Given the description of an element on the screen output the (x, y) to click on. 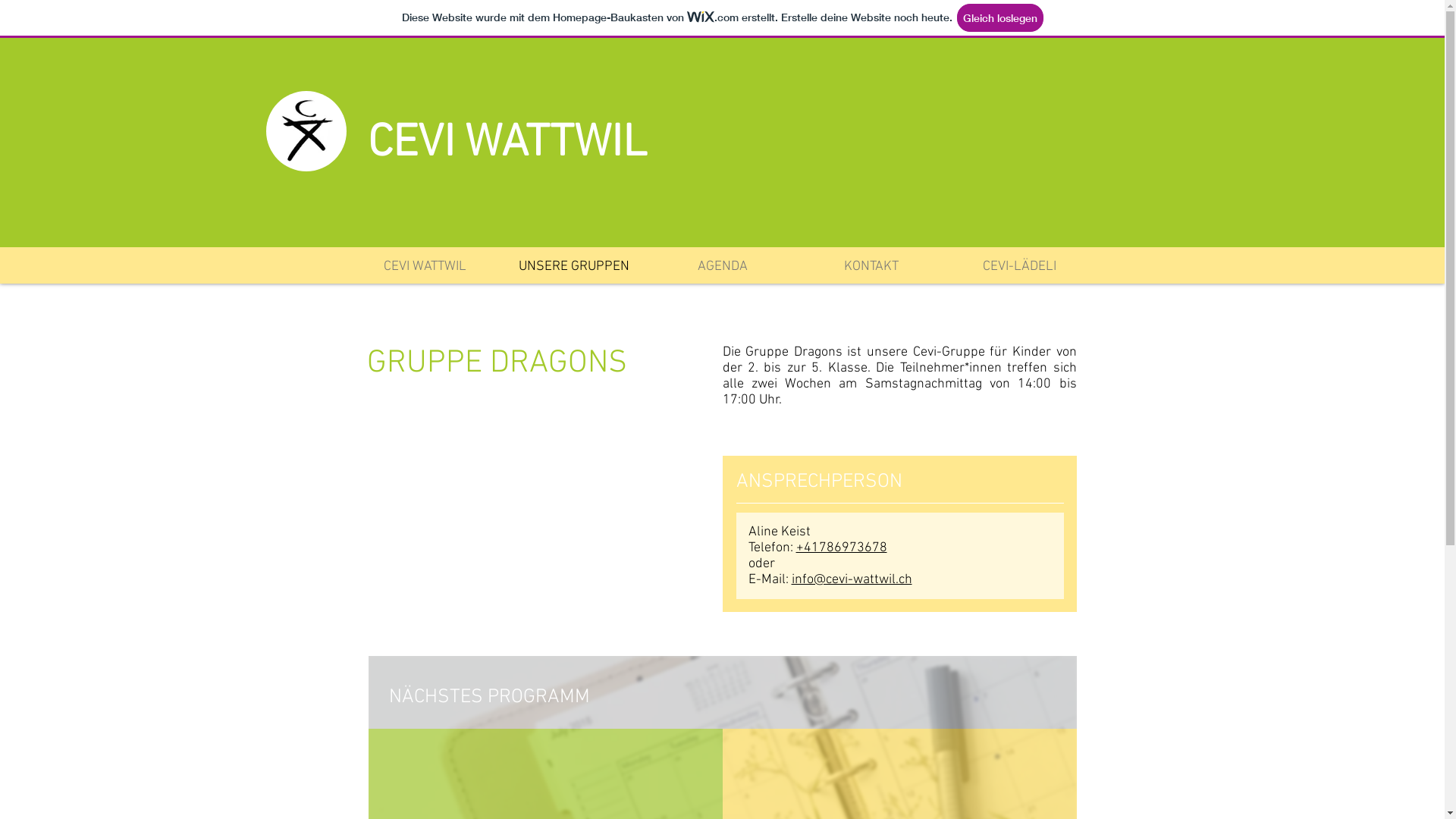
UNSERE GRUPPEN Element type: text (572, 266)
KONTAKT Element type: text (870, 266)
CEVI WATTWIL Element type: text (424, 266)
info@cevi-wattwil.ch Element type: text (851, 579)
AGENDA Element type: text (721, 266)
+41786973678 Element type: text (841, 547)
